Given the description of an element on the screen output the (x, y) to click on. 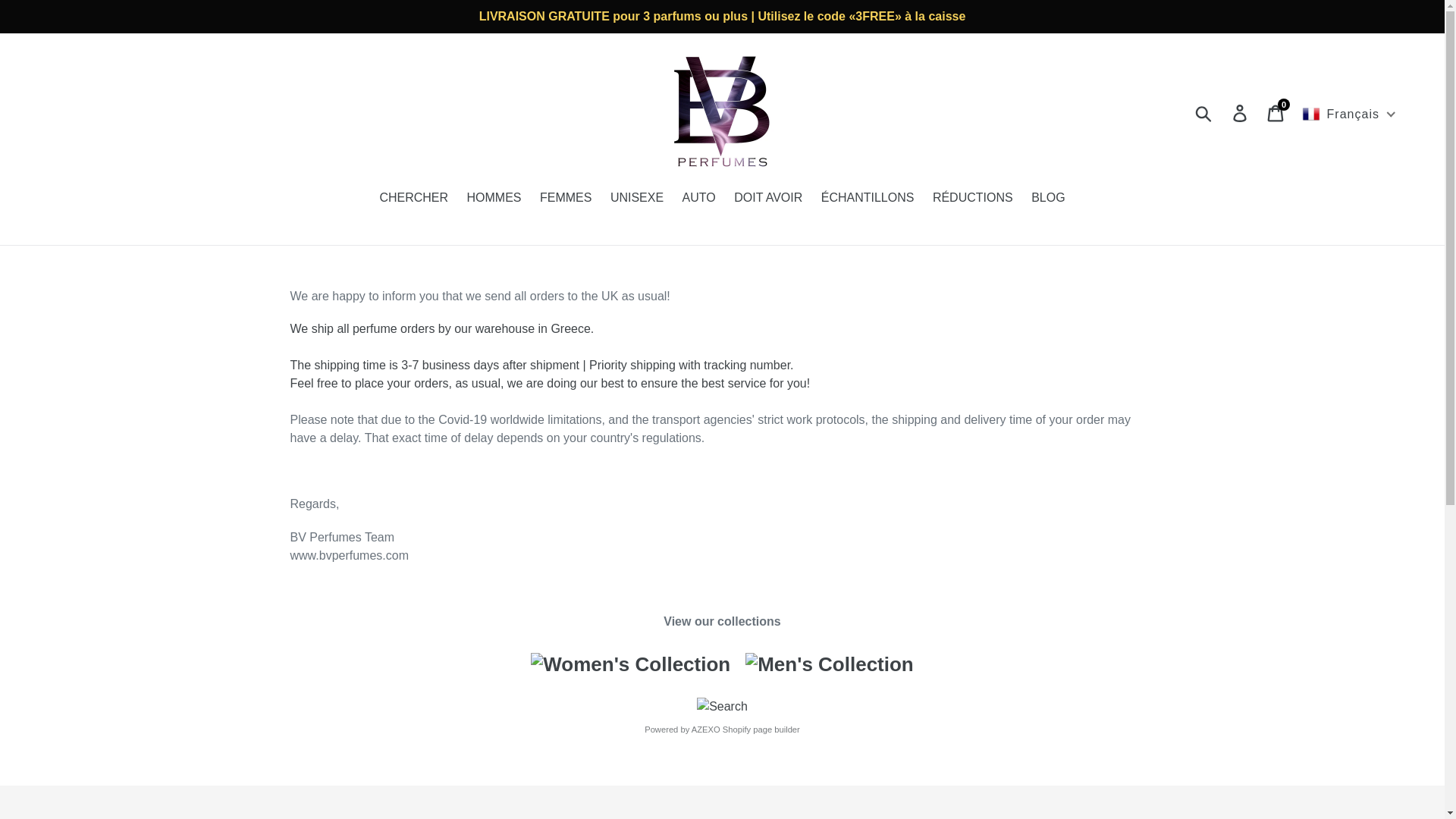
DOIT AVOIR (1276, 112)
FEMMES (767, 199)
Search BV Perfumes (565, 199)
BLOG (722, 706)
CHERCHER (1047, 199)
AZEXO (413, 199)
UNISEXE (705, 728)
Se connecter (636, 199)
BV Perfumes Men's Collection (1241, 112)
BV Perfumes Women's Collection (829, 663)
AUTO (630, 663)
Soumettre (699, 199)
HOMMES (1204, 112)
